Given the description of an element on the screen output the (x, y) to click on. 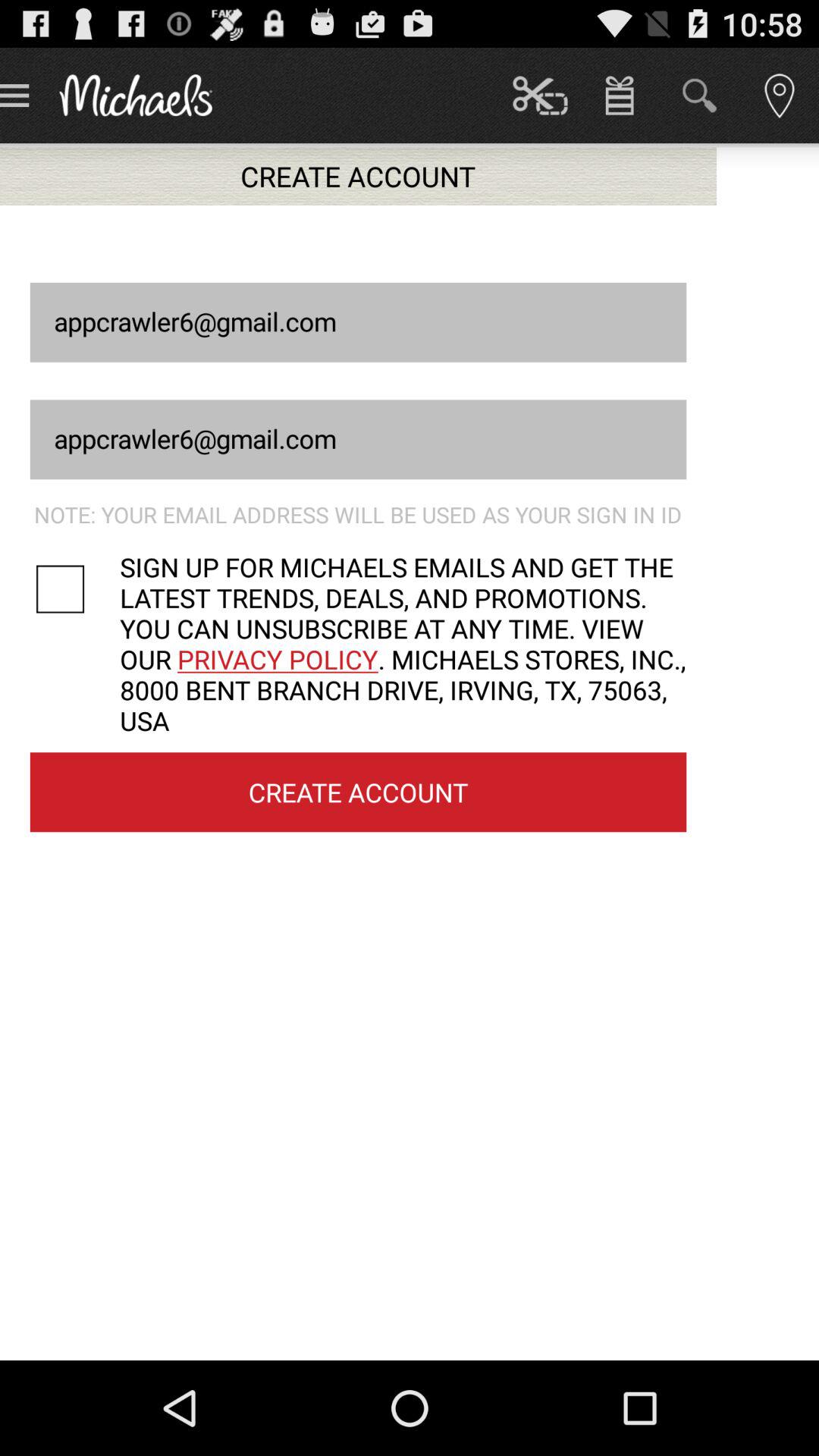
confirm subscription (75, 589)
